Given the description of an element on the screen output the (x, y) to click on. 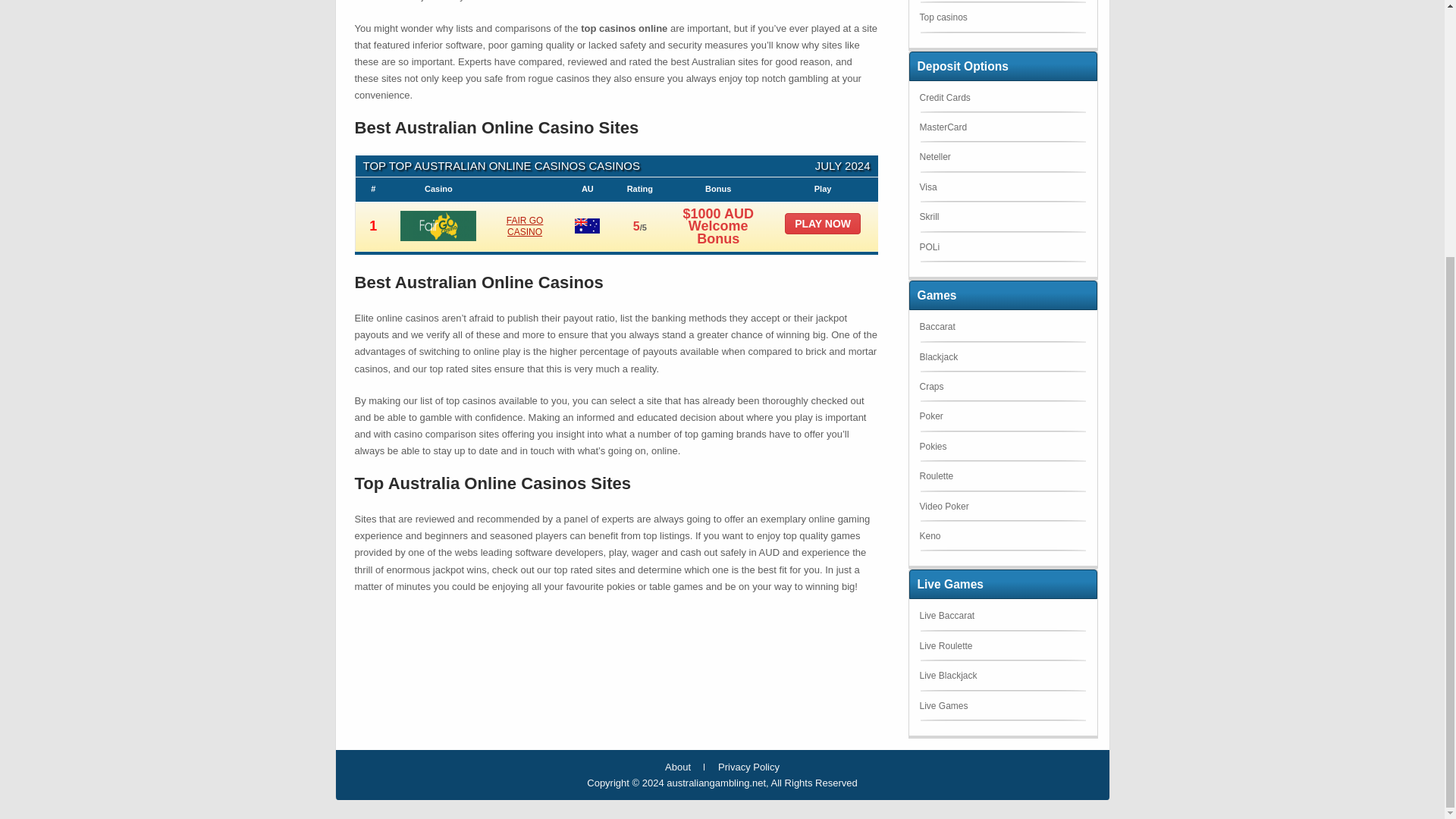
PLAY NOW (822, 223)
MasterCard (942, 127)
POLi (928, 246)
Pokies (932, 446)
Live Games (943, 706)
Keno (929, 535)
Neteller (934, 156)
Live Baccarat (946, 615)
Blackjack (938, 357)
Privacy Policy (747, 767)
Visa (927, 186)
About (677, 767)
Skrill (928, 216)
Credit Cards (943, 97)
Baccarat (936, 326)
